Given the description of an element on the screen output the (x, y) to click on. 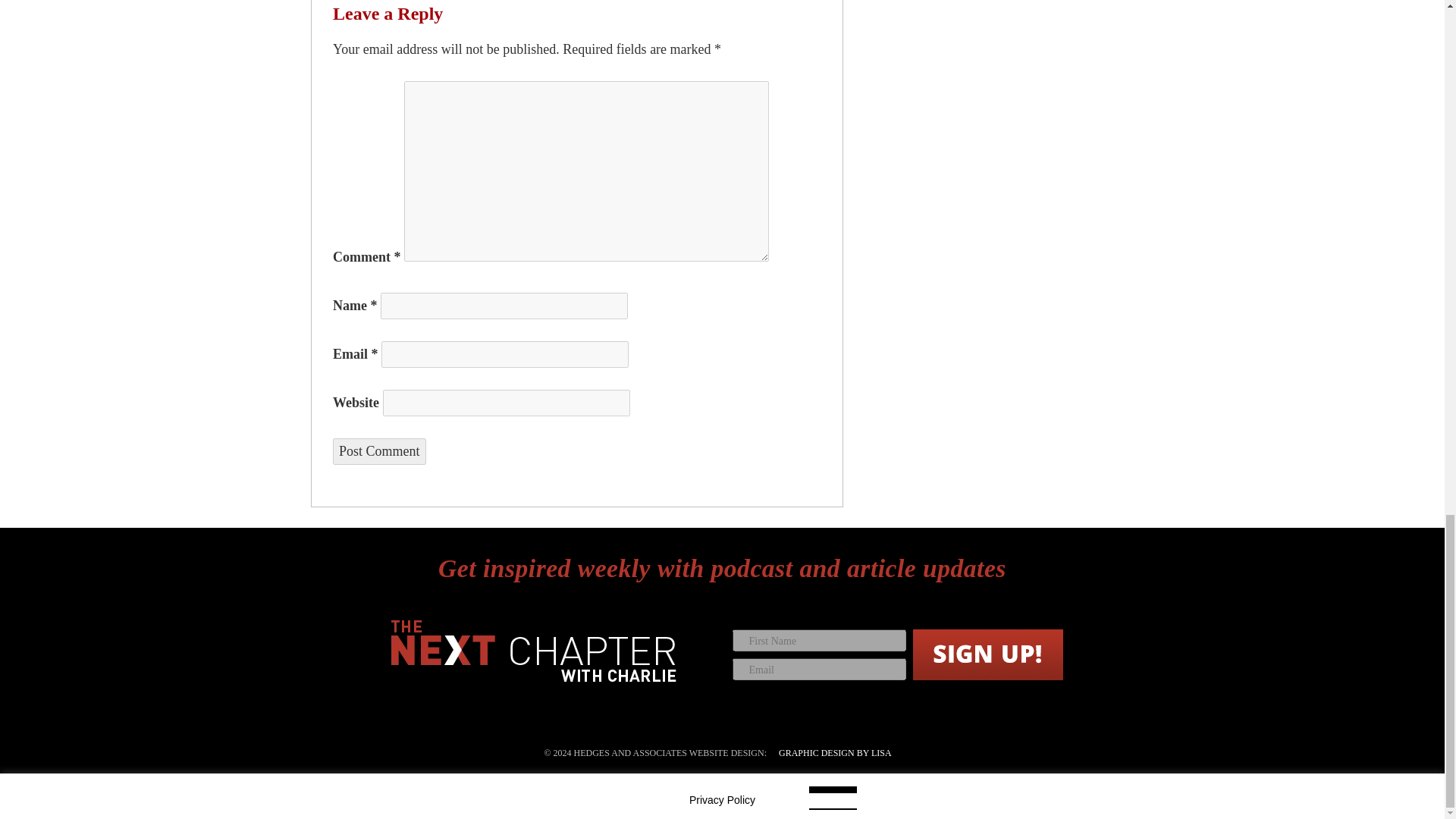
Post Comment (379, 451)
Privacy Policy (721, 799)
Post Comment (379, 451)
GRAPHIC DESIGN BY LISA (834, 752)
